Given the description of an element on the screen output the (x, y) to click on. 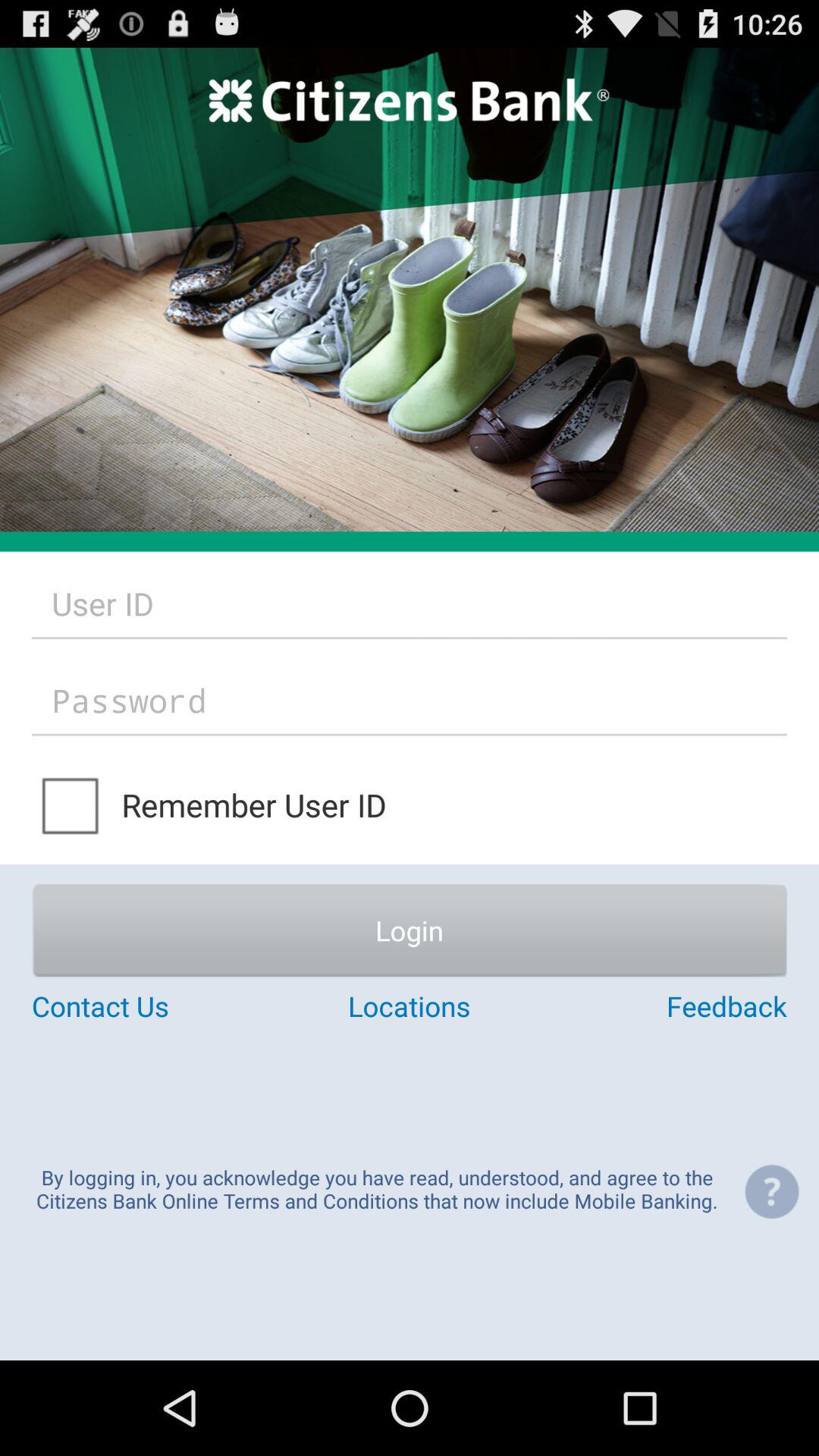
click app next to remember user id app (71, 804)
